Given the description of an element on the screen output the (x, y) to click on. 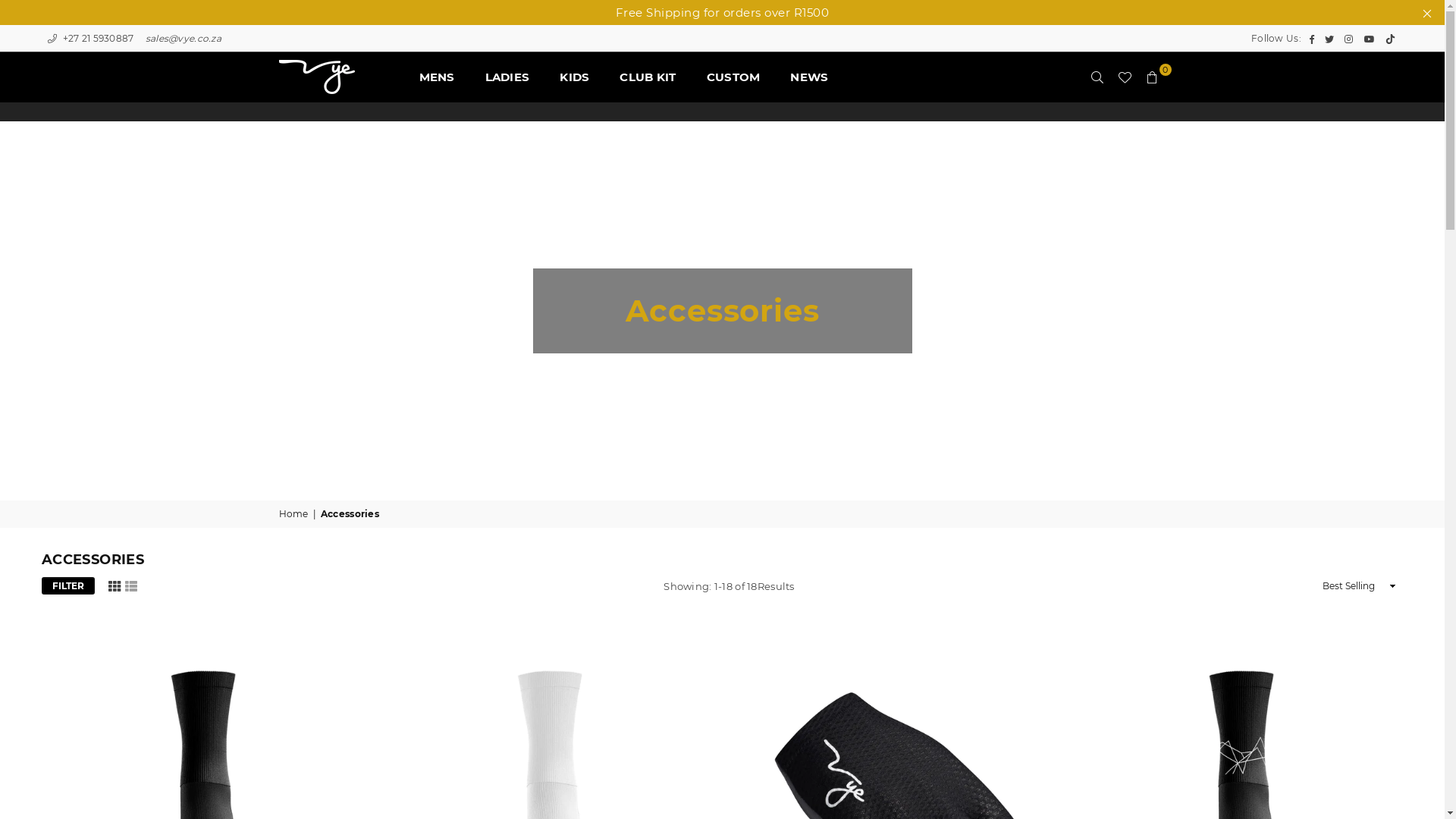
YouTube Element type: text (1369, 38)
KIDS Element type: text (574, 77)
FILTER Element type: text (67, 585)
Grid View Element type: hover (114, 585)
+27 21 5930887 Element type: text (89, 37)
CUSTOM Element type: text (733, 77)
0 Element type: text (1152, 76)
Facebook Element type: text (1311, 38)
MENS Element type: text (436, 77)
sales@vye.co.za Element type: text (181, 37)
Search Element type: hover (1096, 76)
VYE Element type: text (343, 76)
NEWS Element type: text (808, 77)
LADIES Element type: text (507, 77)
Home Element type: text (294, 514)
TikTok Element type: text (1390, 38)
Instagram Element type: text (1348, 38)
CLUB KIT Element type: text (647, 77)
List View Element type: hover (130, 585)
Twitter Element type: text (1329, 38)
Wishlist Element type: hover (1124, 76)
